Given the description of an element on the screen output the (x, y) to click on. 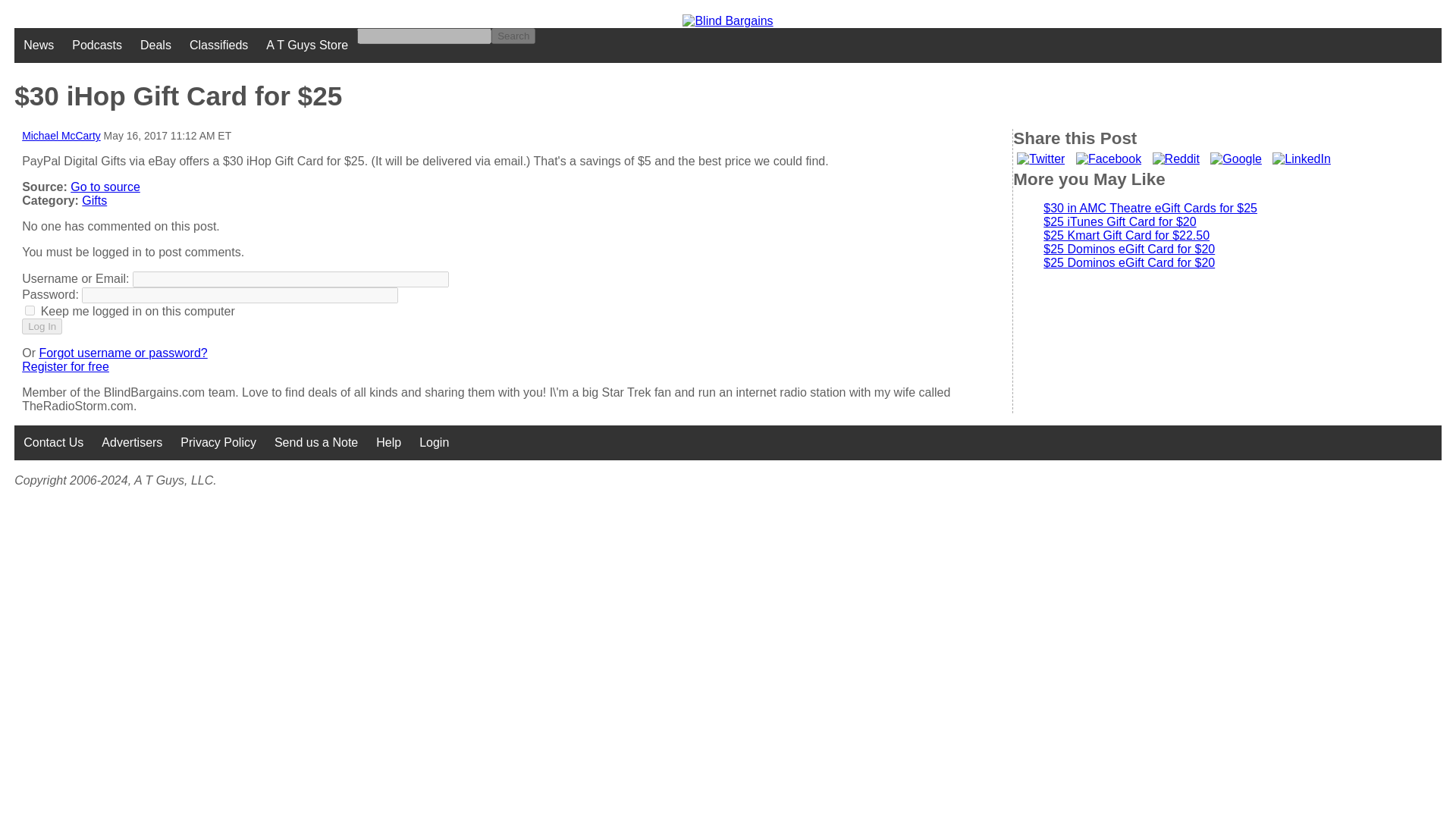
Help (388, 442)
News (38, 45)
Login (434, 442)
Search (513, 35)
Log In (41, 326)
Michael McCarty (60, 135)
Contact Us (53, 442)
Forgot username or password? (122, 352)
password (239, 295)
Send us a Note (315, 442)
username or E-mail (290, 279)
A T Guys Store (306, 45)
Deals (155, 45)
on (29, 310)
Log In (41, 326)
